Given the description of an element on the screen output the (x, y) to click on. 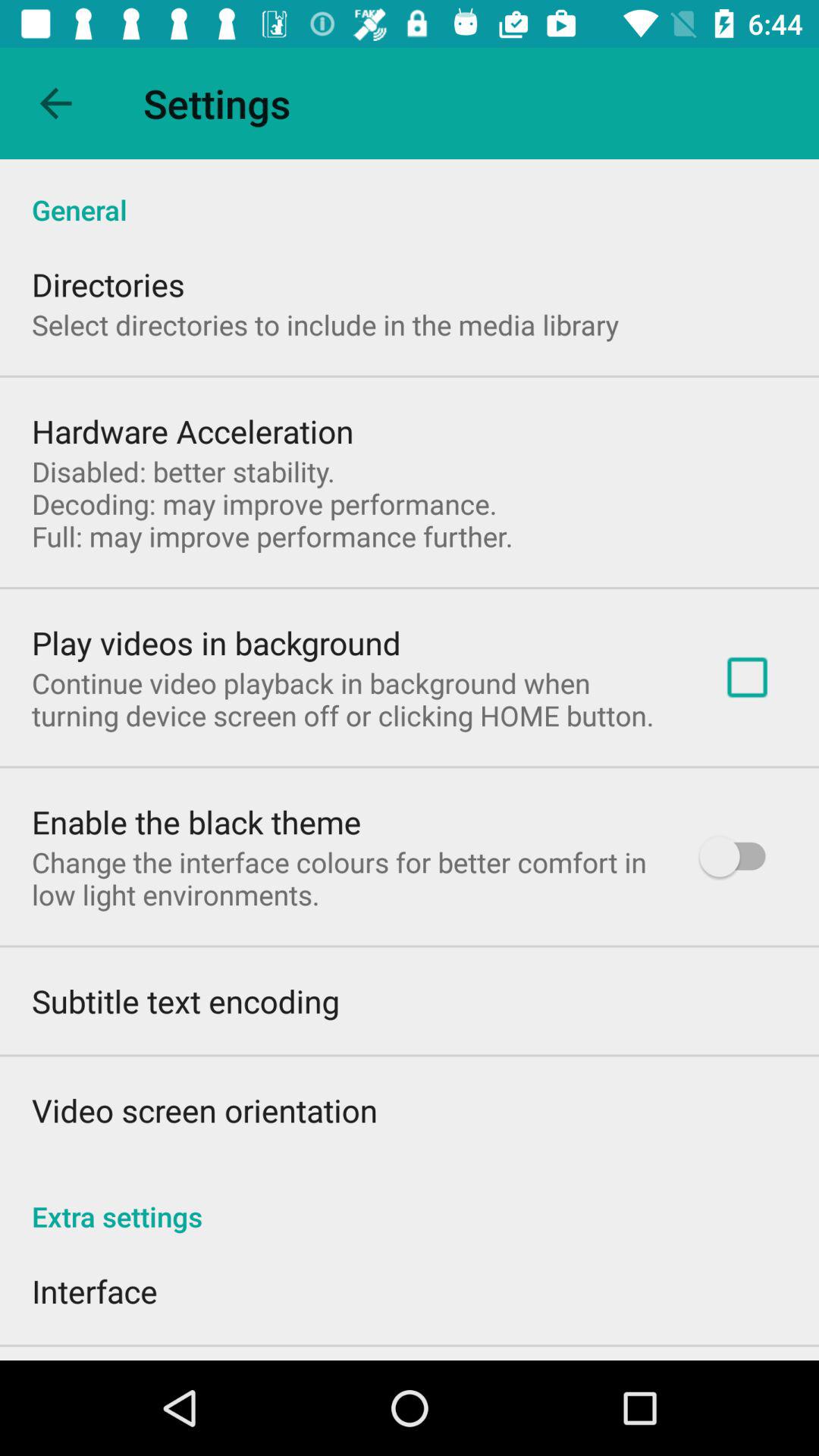
launch the app next to continue video playback icon (747, 677)
